Given the description of an element on the screen output the (x, y) to click on. 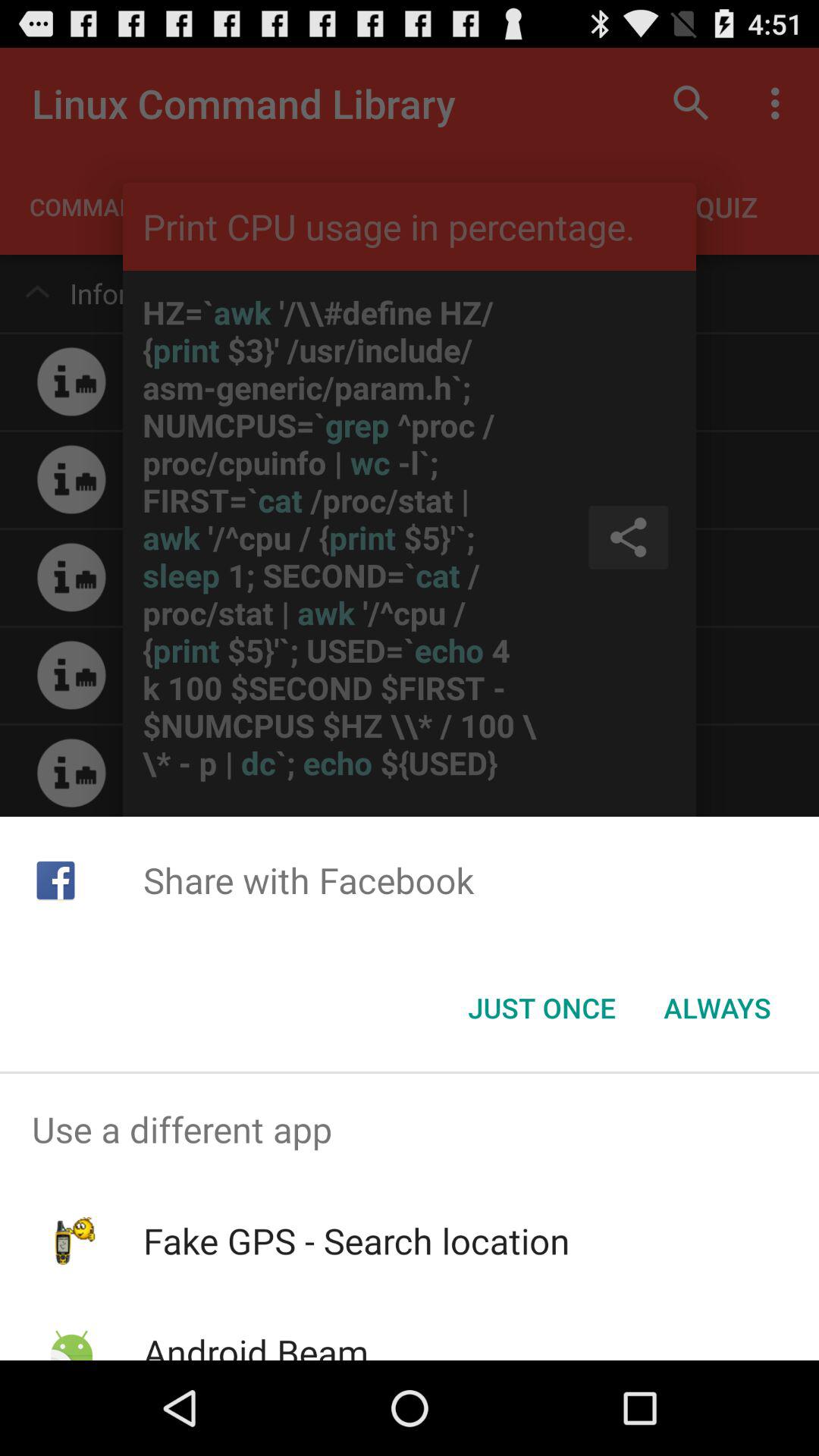
swipe to the just once icon (541, 1007)
